Given the description of an element on the screen output the (x, y) to click on. 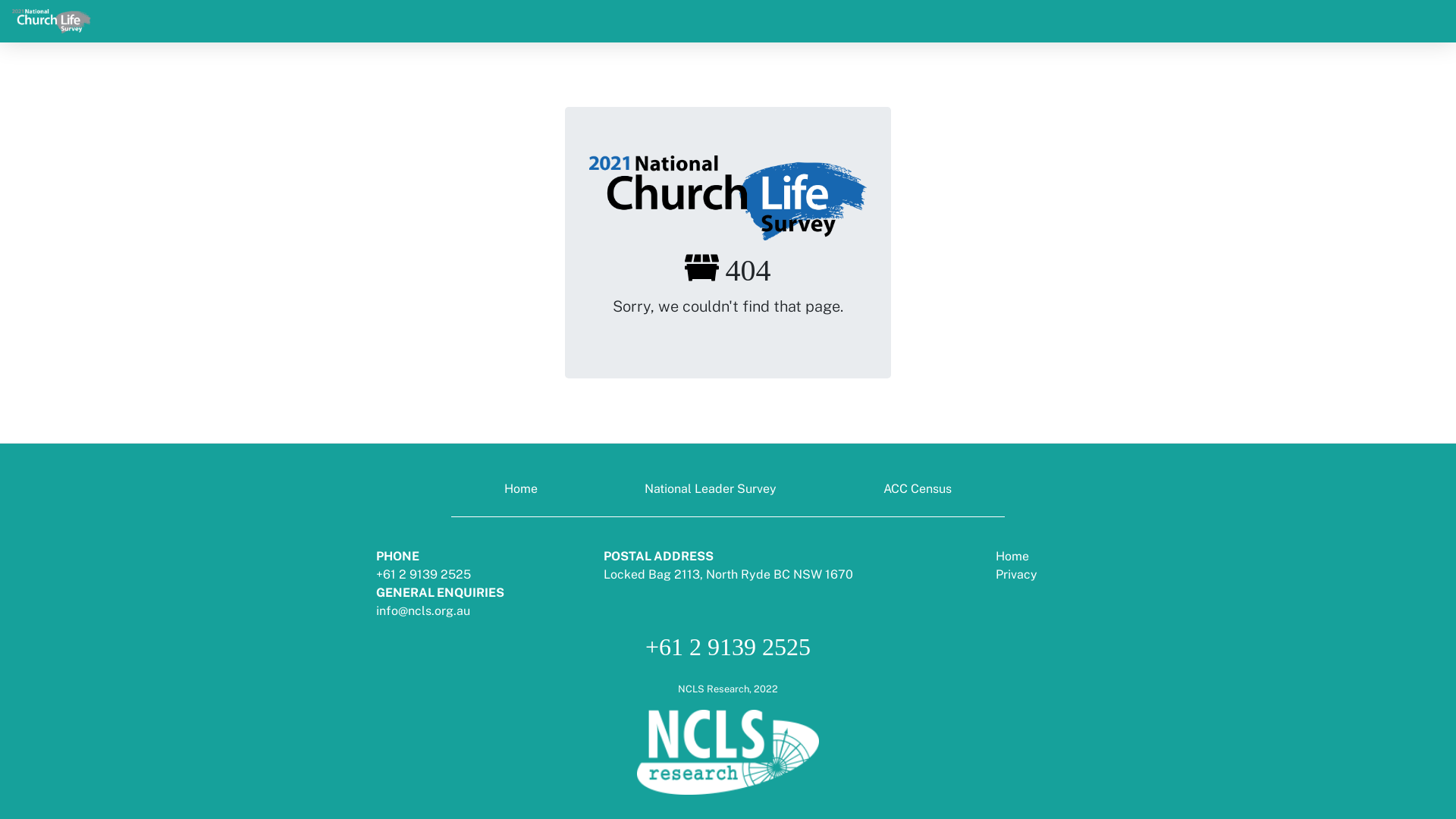
+61 2 9139 2525 Element type: text (423, 574)
info@ncls.org.au Element type: text (423, 610)
ACC Census Element type: text (917, 489)
Home Element type: text (1011, 556)
National Leader Survey Element type: text (710, 489)
Home Element type: text (520, 489)
Privacy Element type: text (1015, 574)
+61 2 9139 2525 Element type: text (727, 646)
